Given the description of an element on the screen output the (x, y) to click on. 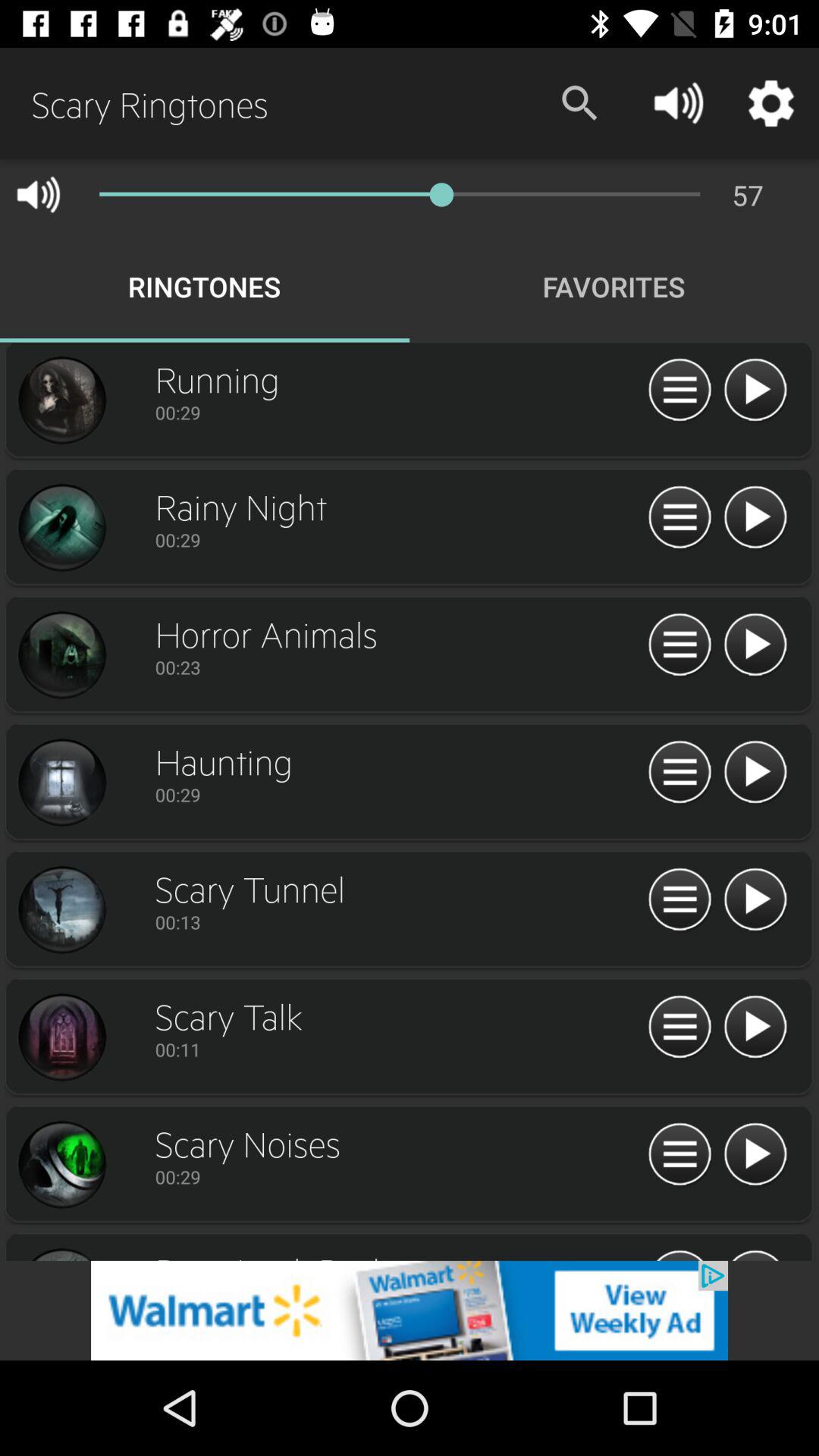
go to play (755, 1027)
